Given the description of an element on the screen output the (x, y) to click on. 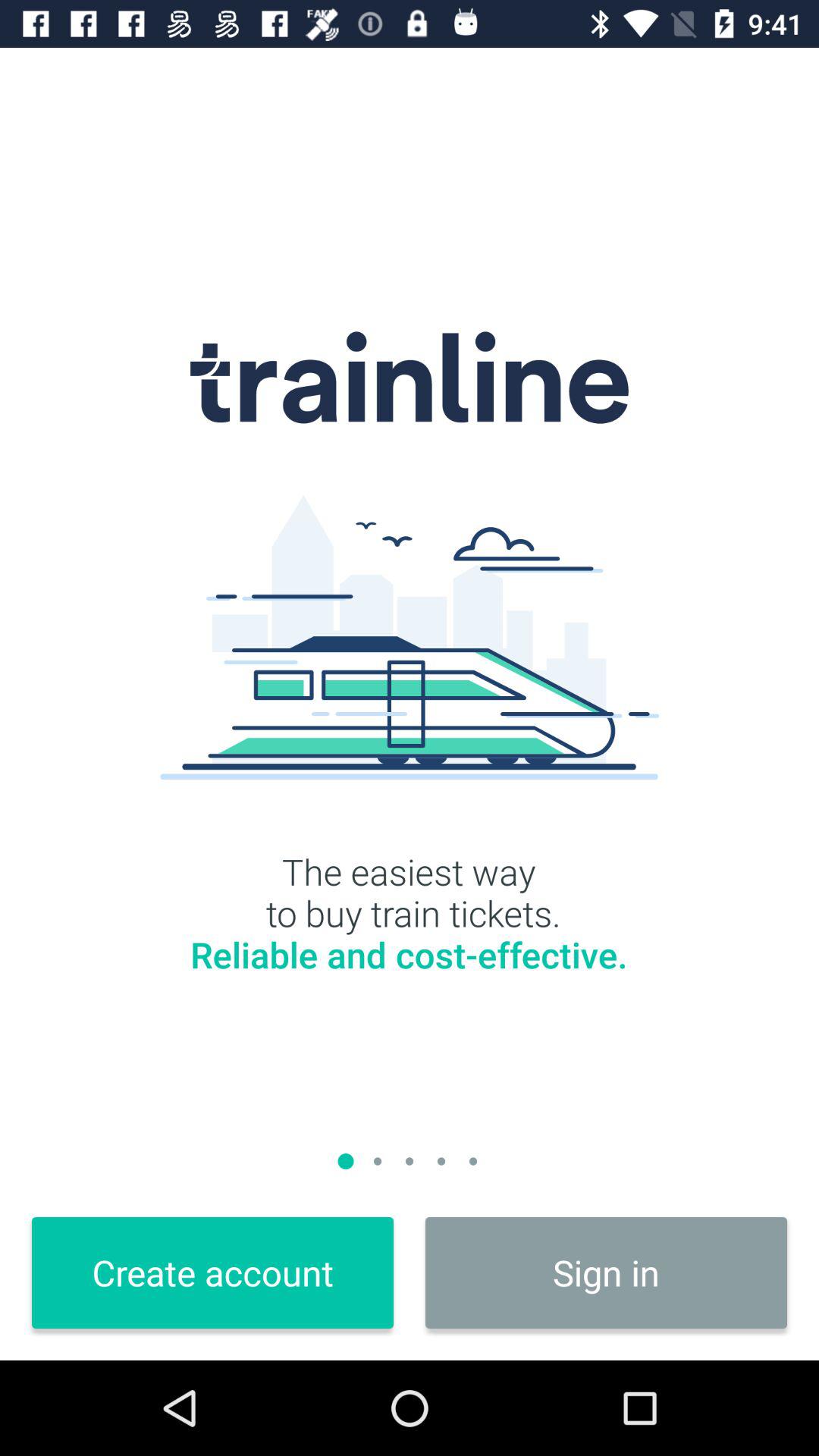
tap the item next to create account (606, 1272)
